Given the description of an element on the screen output the (x, y) to click on. 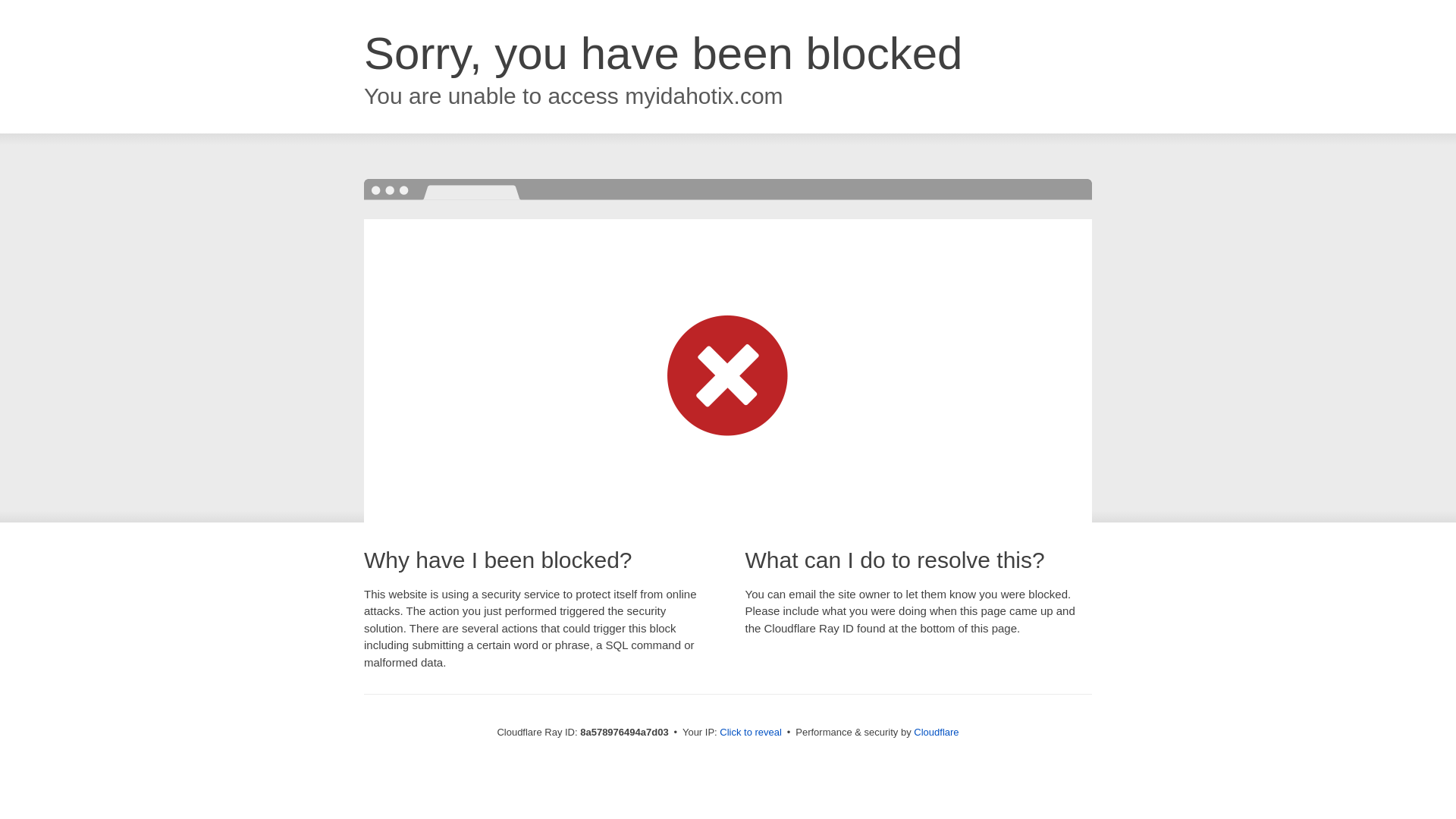
Click to reveal (750, 732)
Cloudflare (936, 731)
